Given the description of an element on the screen output the (x, y) to click on. 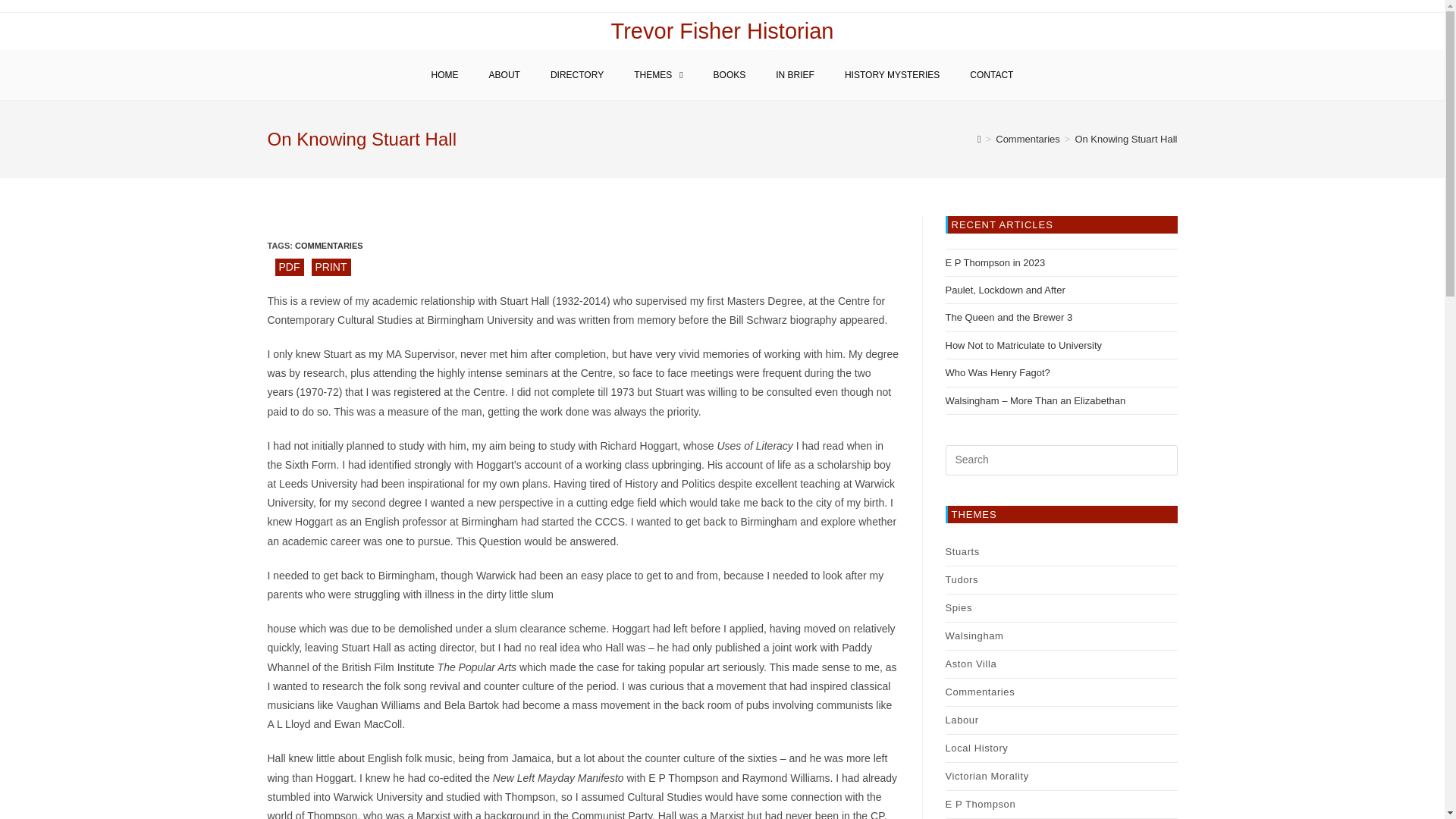
THEMES (657, 74)
DIRECTORY (576, 74)
Trevor Fisher Historian (722, 30)
HISTORY MYSTERIES (892, 74)
HOME (445, 74)
ABOUT (504, 74)
BOOKS (729, 74)
Commentaries (1027, 138)
CONTACT (991, 74)
IN BRIEF (794, 74)
